Given the description of an element on the screen output the (x, y) to click on. 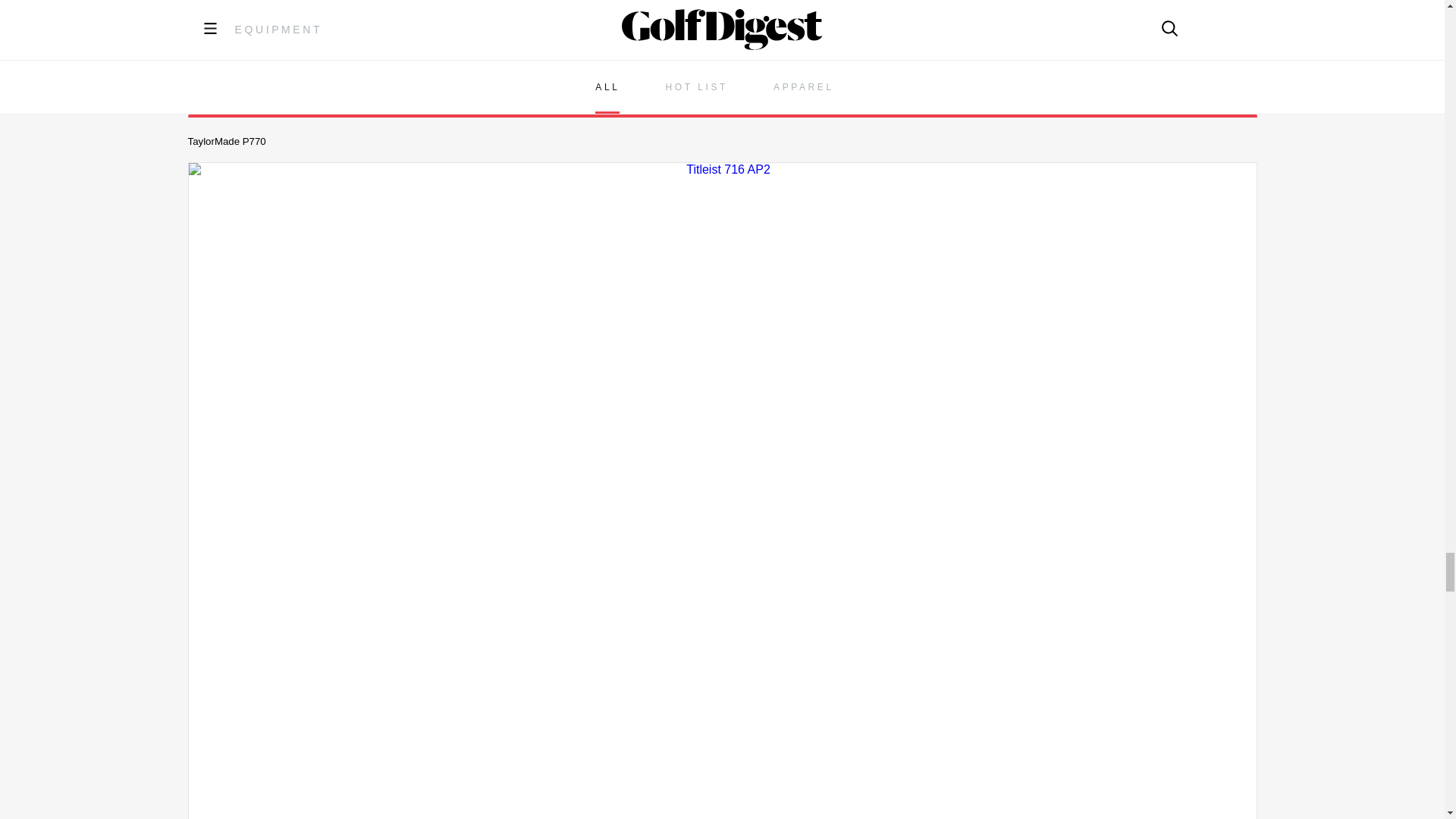
TaylorMade P770 (721, 56)
